Given the description of an element on the screen output the (x, y) to click on. 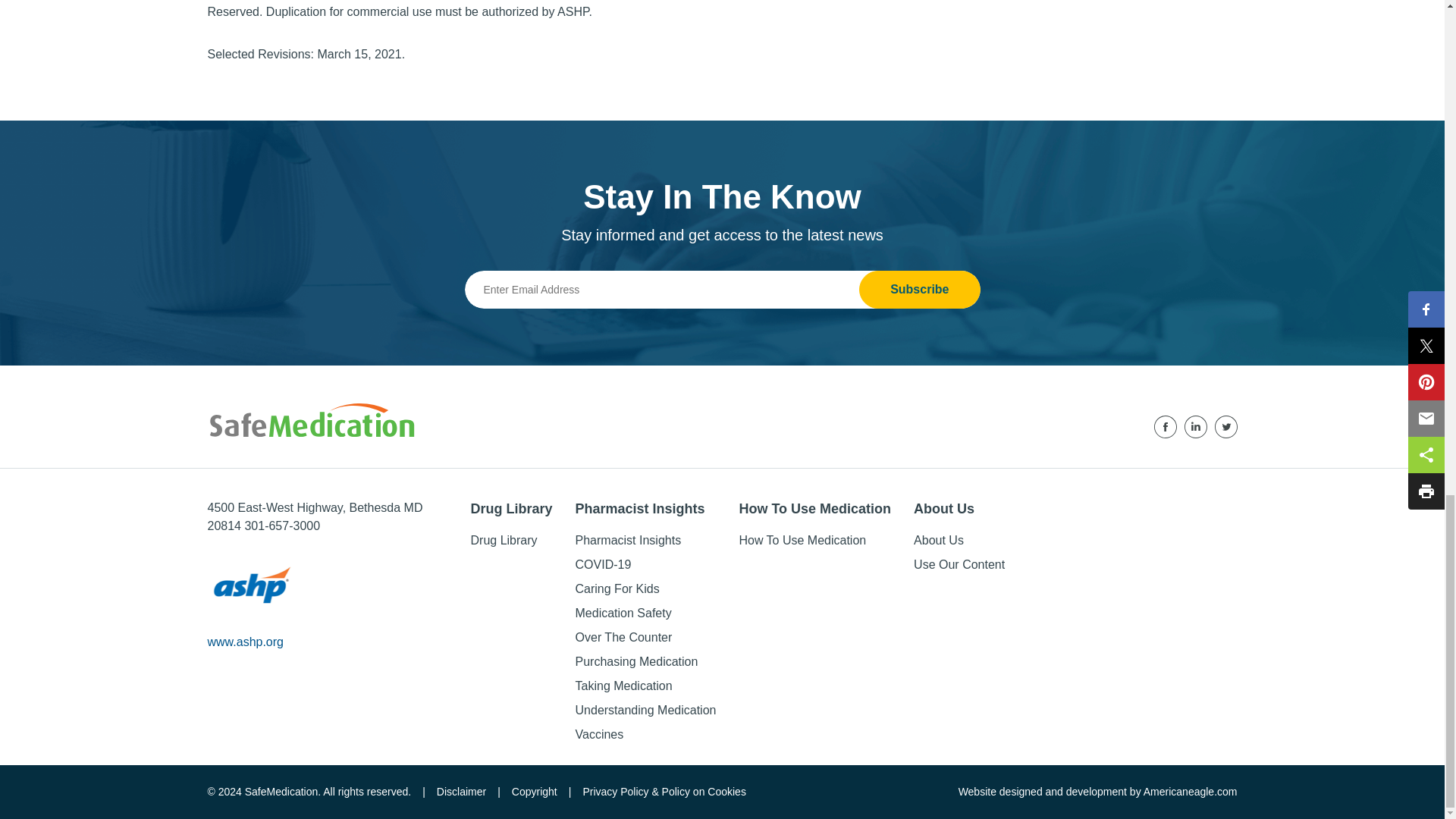
Subscribe (919, 289)
